Given the description of an element on the screen output the (x, y) to click on. 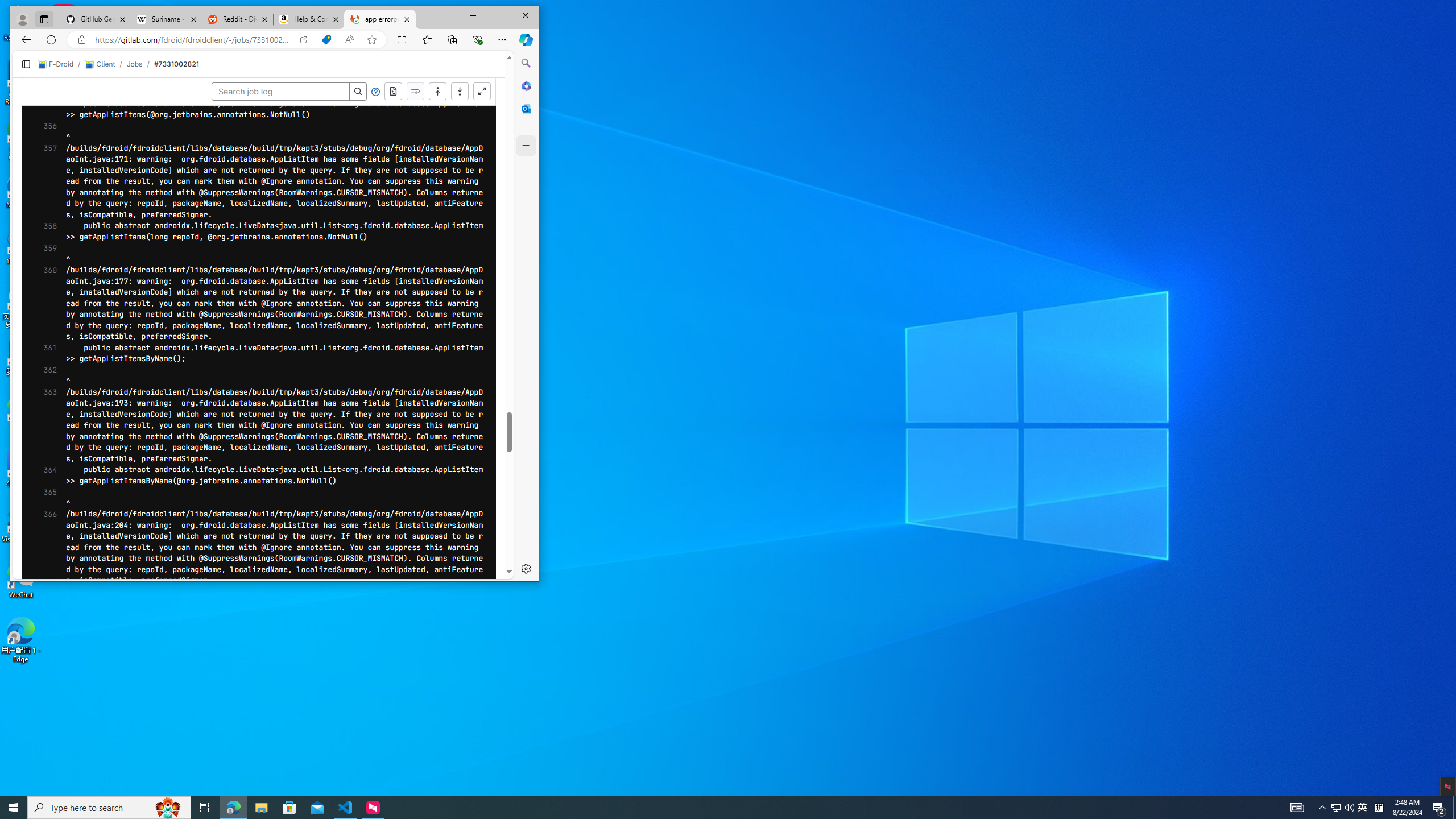
#7331002821 (300, 53)
407 (41, 222)
395 (41, 89)
445 Saving cache for successful job 00:52 (557, 788)
424 (41, 410)
448 (41, 677)
409 (41, 244)
420 (41, 366)
397 (41, 111)
399 (1362, 807)
